Given the description of an element on the screen output the (x, y) to click on. 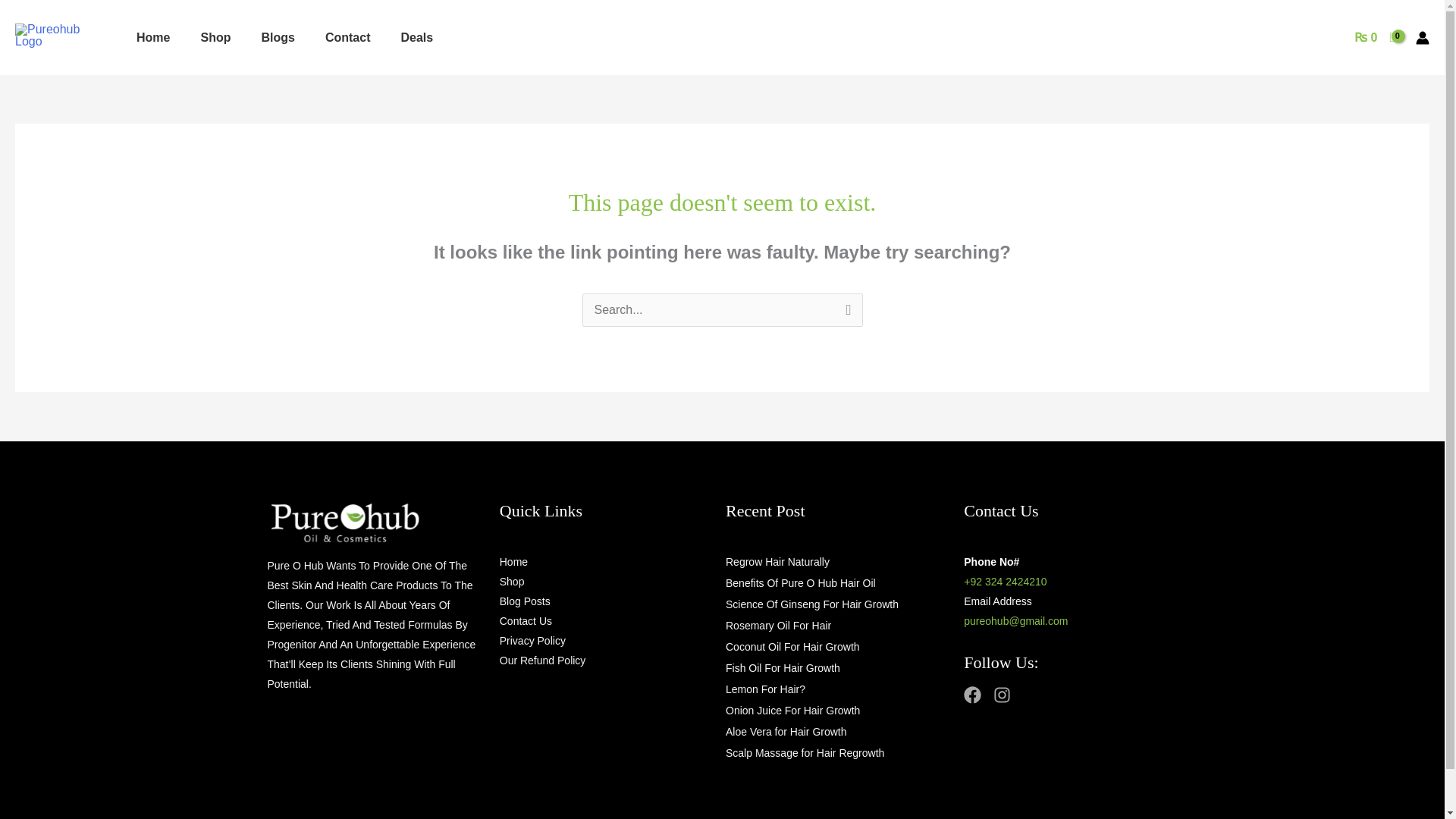
Blogs (277, 37)
Shop (511, 581)
Blog Posts (524, 601)
Our Refund Policy (542, 660)
Scalp Massage for Hair Regrowth (804, 752)
Lemon For Hair? (765, 689)
Fish Oil For Hair Growth (782, 667)
Deals (416, 37)
Science Of Ginseng For Hair Growth (811, 604)
Regrow Hair Naturally (777, 562)
